Given the description of an element on the screen output the (x, y) to click on. 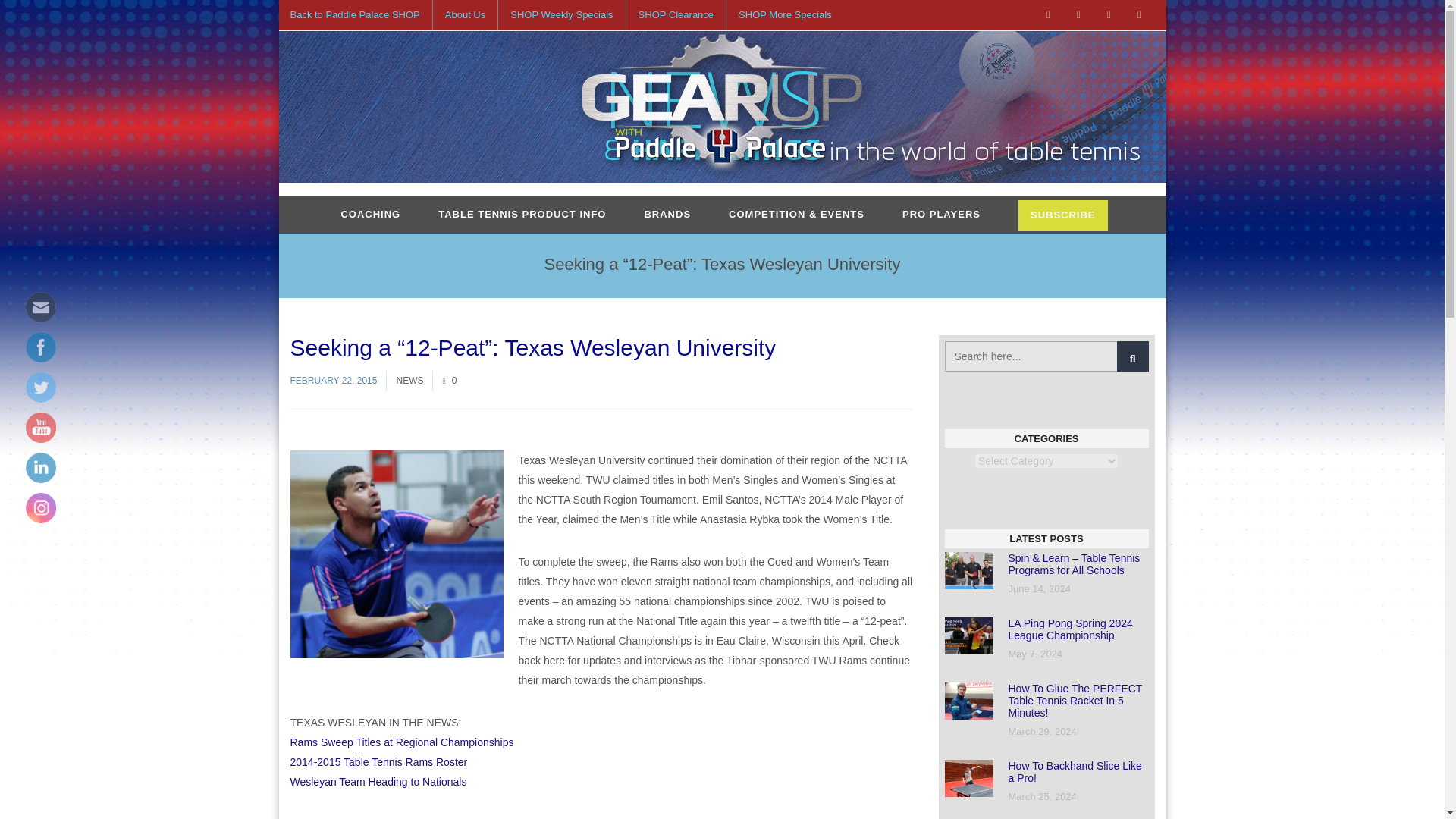
View all posts in News (409, 380)
COACHING (370, 214)
PRO PLAYERS (940, 214)
Search here... (1046, 356)
Rams Sweep Titles at Regional Championships (401, 742)
SHOP Weekly Specials (560, 15)
Search here... (1046, 356)
2014-2015 Table Tennis Rams Roster (378, 761)
Paddle Palace (721, 108)
Wesleyan Team Heading to Nationals (377, 781)
About Us (464, 15)
Back to Paddle Palace SHOP (359, 15)
TABLE TENNIS PRODUCT INFO (521, 214)
SUBSCRIBE (1062, 214)
0 (449, 380)
